Given the description of an element on the screen output the (x, y) to click on. 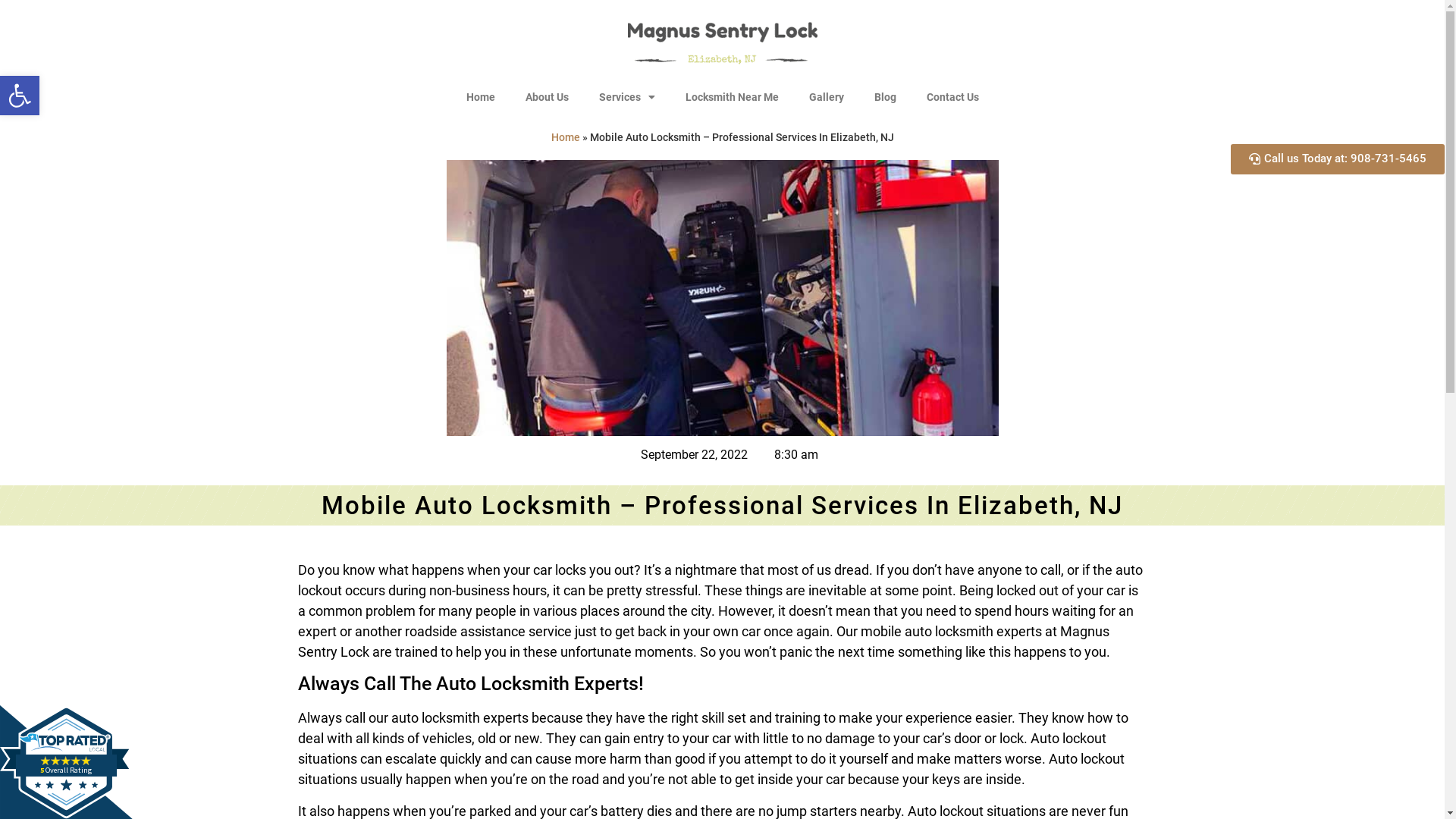
Home Element type: text (479, 96)
Contact Us Element type: text (952, 96)
Open toolbar
Accessibility Tools Element type: text (19, 95)
Blog Element type: text (884, 96)
Gallery Element type: text (825, 96)
Home Element type: text (564, 137)
Call us Today at: 908-731-5465 Element type: text (1337, 159)
Locksmith Near Me Element type: text (731, 96)
Services Element type: text (626, 96)
About Us Element type: text (546, 96)
